Given the description of an element on the screen output the (x, y) to click on. 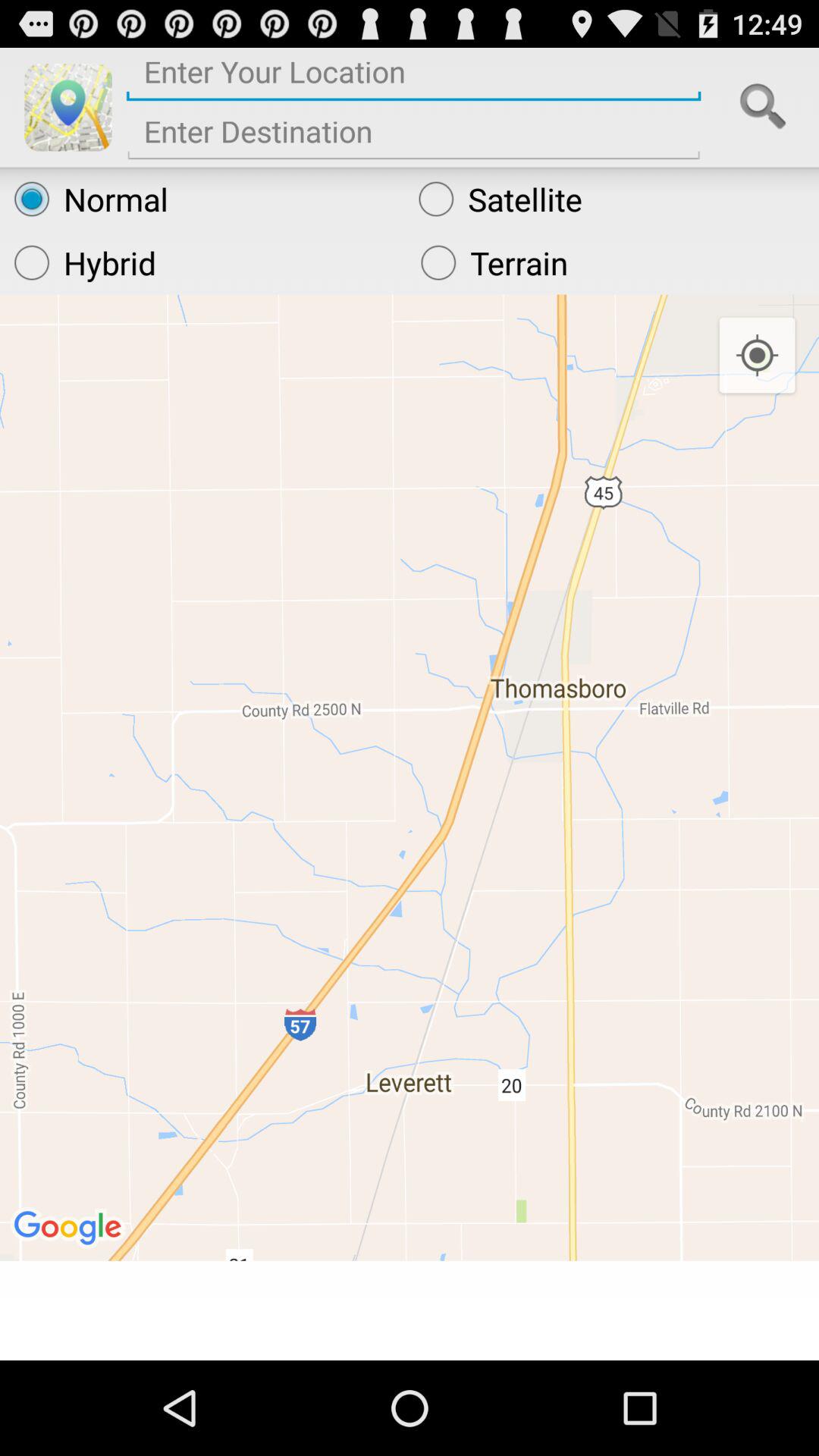
location (413, 77)
